Given the description of an element on the screen output the (x, y) to click on. 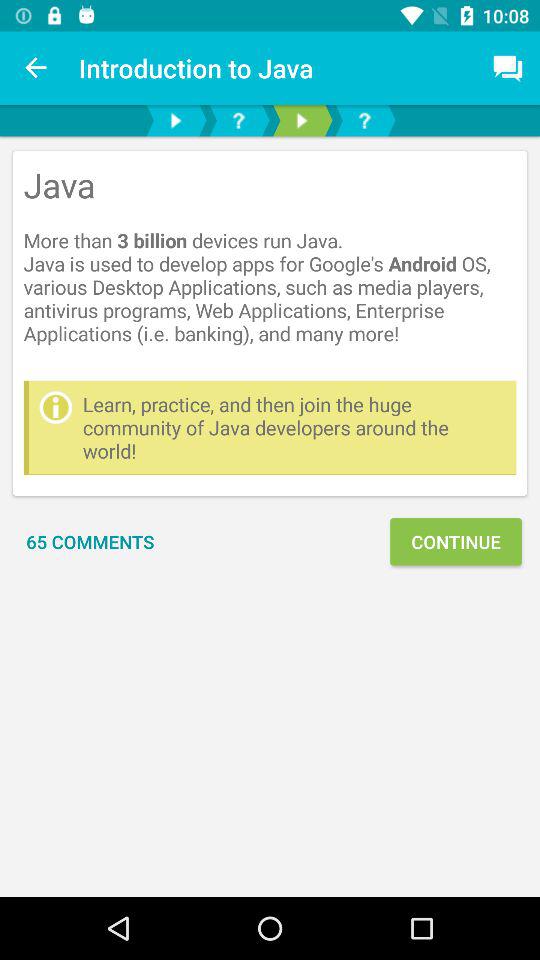
swipe to the learn practice and icon (293, 427)
